Given the description of an element on the screen output the (x, y) to click on. 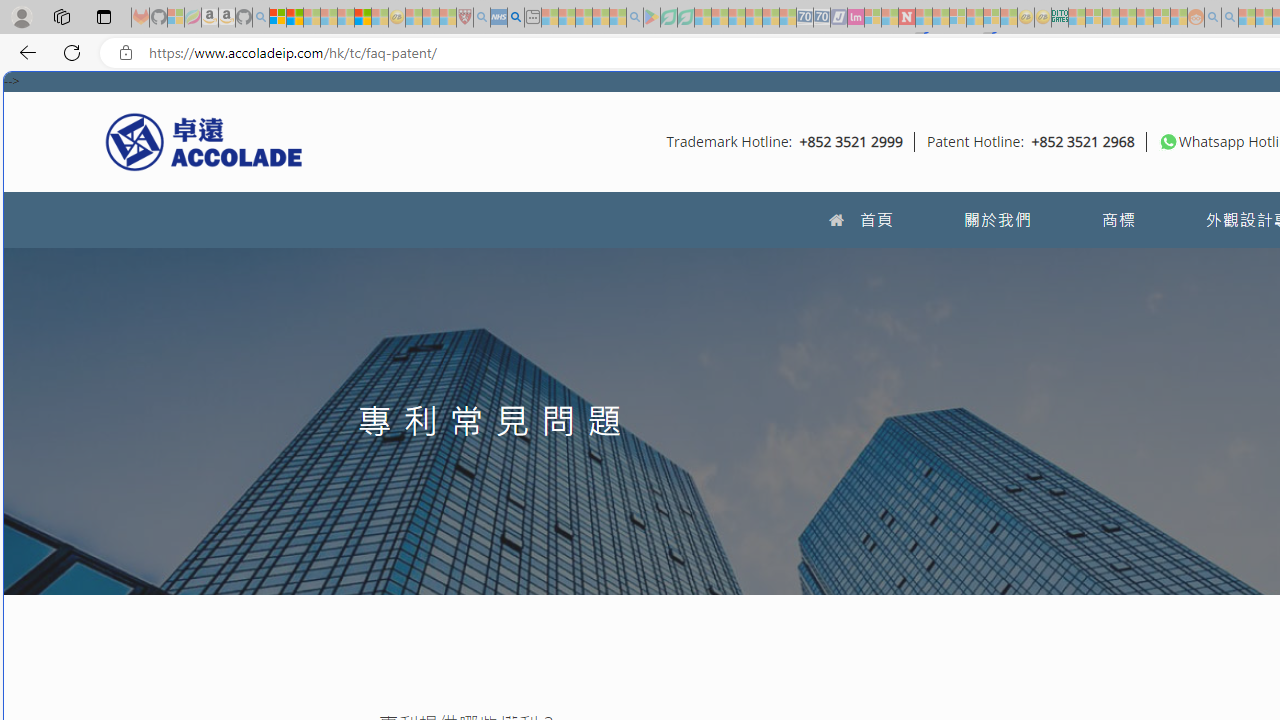
DITOGAMES AG Imprint (1059, 17)
14 Common Myths Debunked By Scientific Facts - Sleeping (940, 17)
Microsoft-Report a Concern to Bing - Sleeping (175, 17)
New Report Confirms 2023 Was Record Hot | Watch - Sleeping (345, 17)
Robert H. Shmerling, MD - Harvard Health - Sleeping (465, 17)
Accolade IP HK Logo (203, 141)
Local - MSN - Sleeping (447, 17)
